Given the description of an element on the screen output the (x, y) to click on. 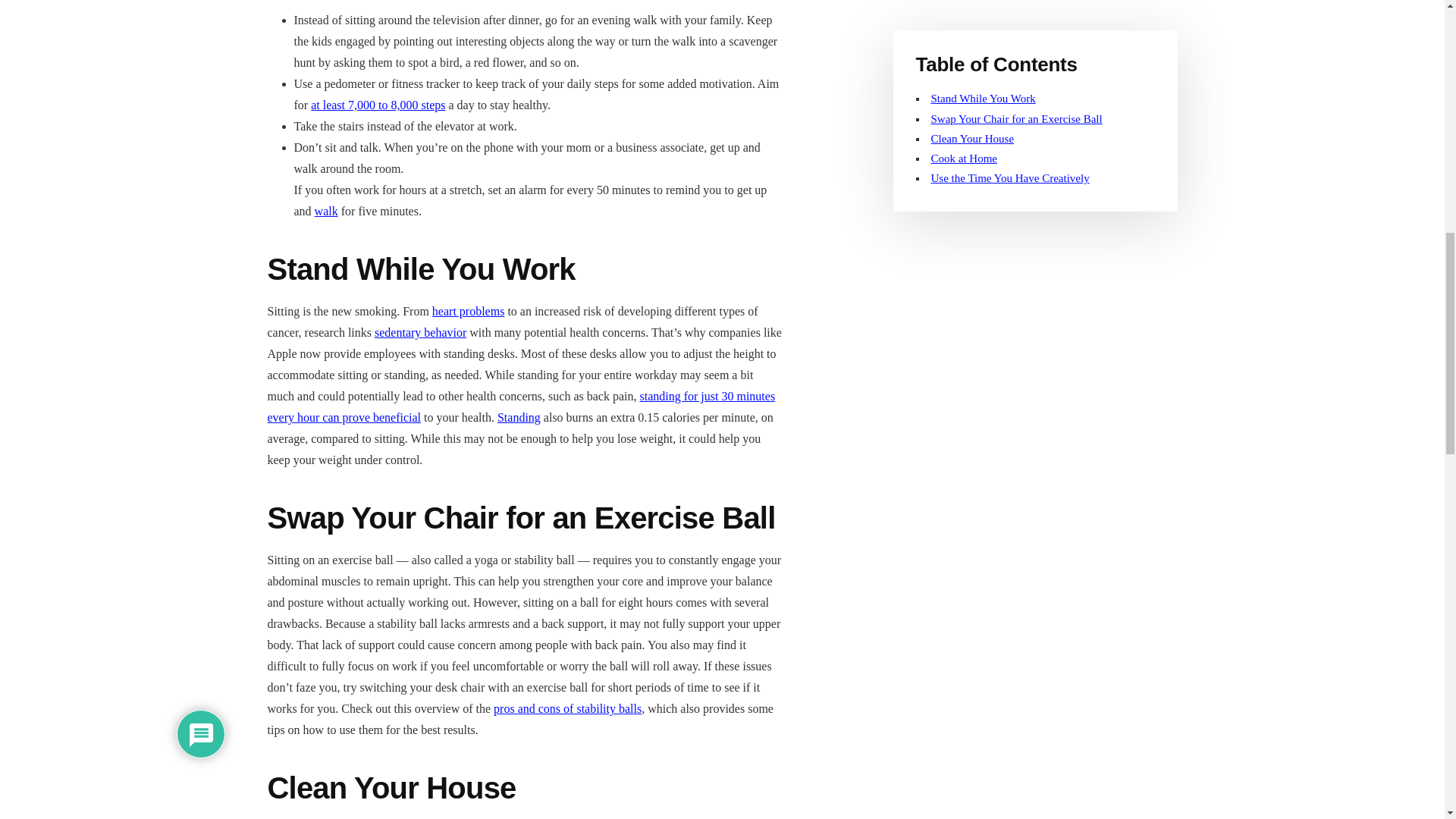
at least 7,000 to 8,000 steps (378, 104)
heart problems (468, 310)
walk (325, 210)
pros and cons of stability balls (567, 707)
Standing (518, 417)
standing for just 30 minutes every hour can prove beneficial (520, 406)
sedentary behavior (419, 332)
